Given the description of an element on the screen output the (x, y) to click on. 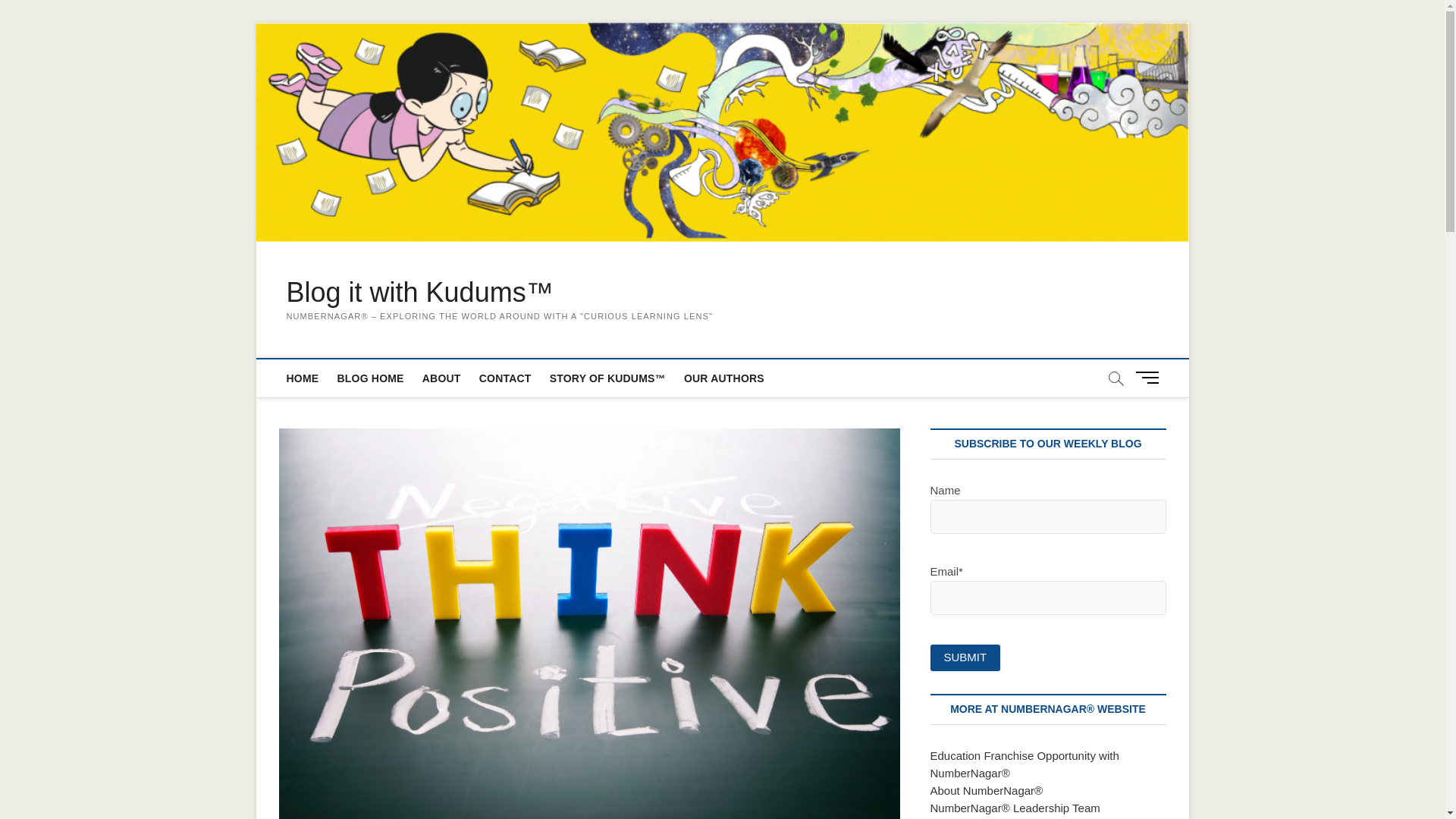
CONTACT (504, 378)
ABOUT (441, 378)
Submit (965, 657)
Menu Button (1150, 377)
BLOG HOME (369, 378)
OUR AUTHORS (724, 378)
HOME (302, 378)
Submit (965, 657)
